Given the description of an element on the screen output the (x, y) to click on. 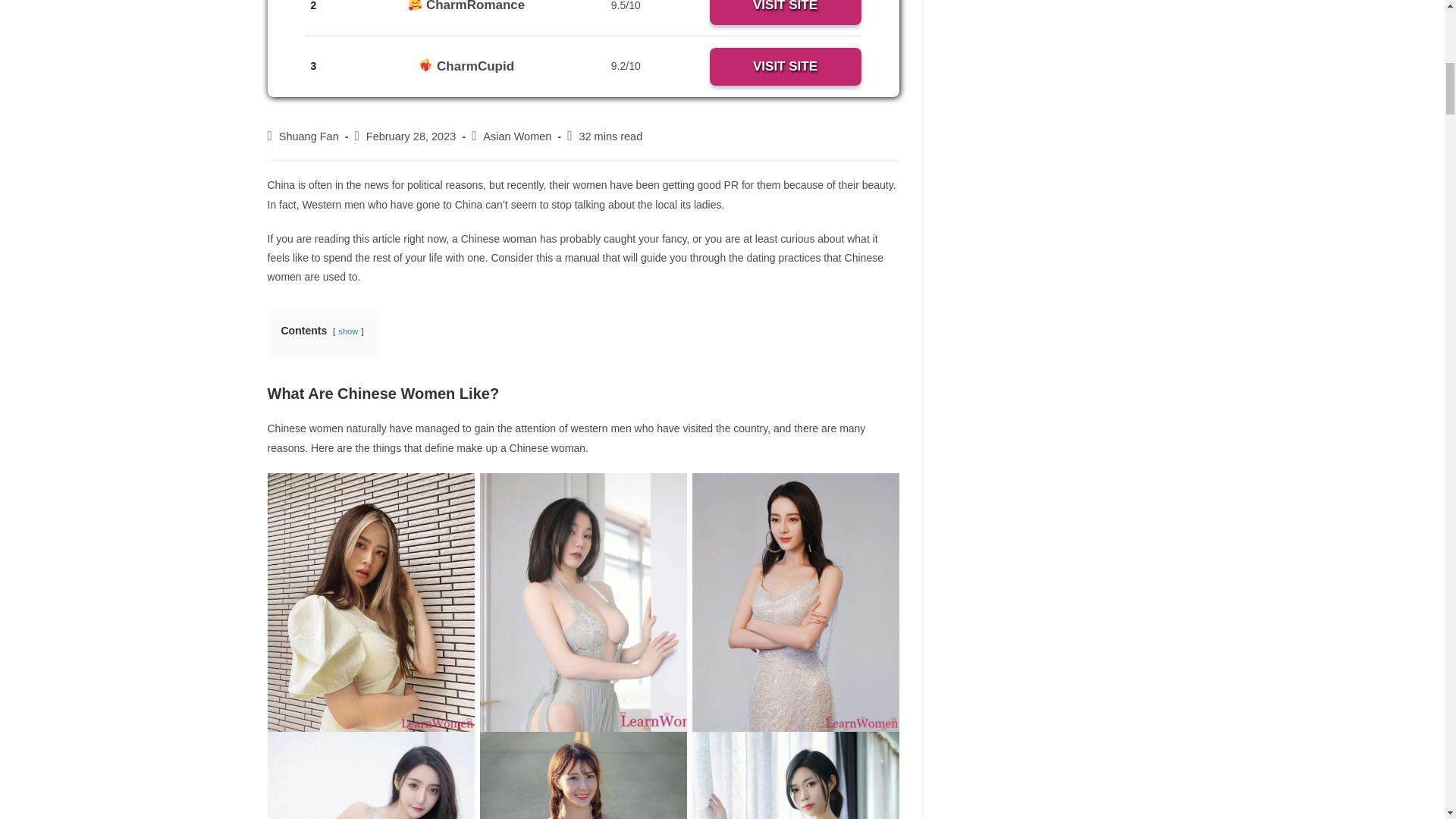
Posts by Shuang Fan (309, 136)
